Given the description of an element on the screen output the (x, y) to click on. 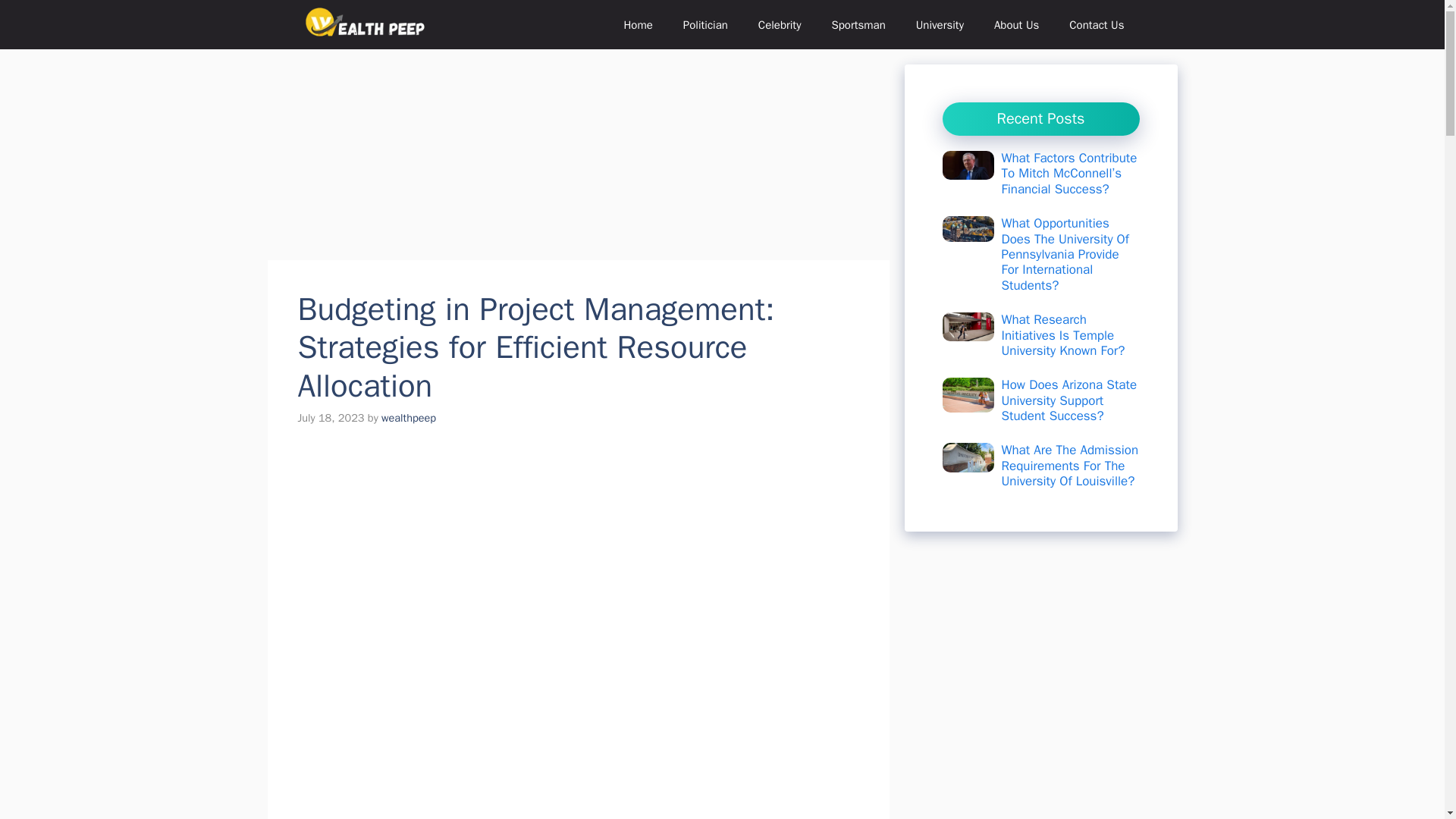
Sportsman (857, 23)
wealthpeep (408, 418)
Home (637, 23)
About Us (1016, 23)
WealthPeep (365, 24)
University (939, 23)
Politician (705, 23)
Contact Us (1096, 23)
Celebrity (779, 23)
View all posts by wealthpeep (408, 418)
